Given the description of an element on the screen output the (x, y) to click on. 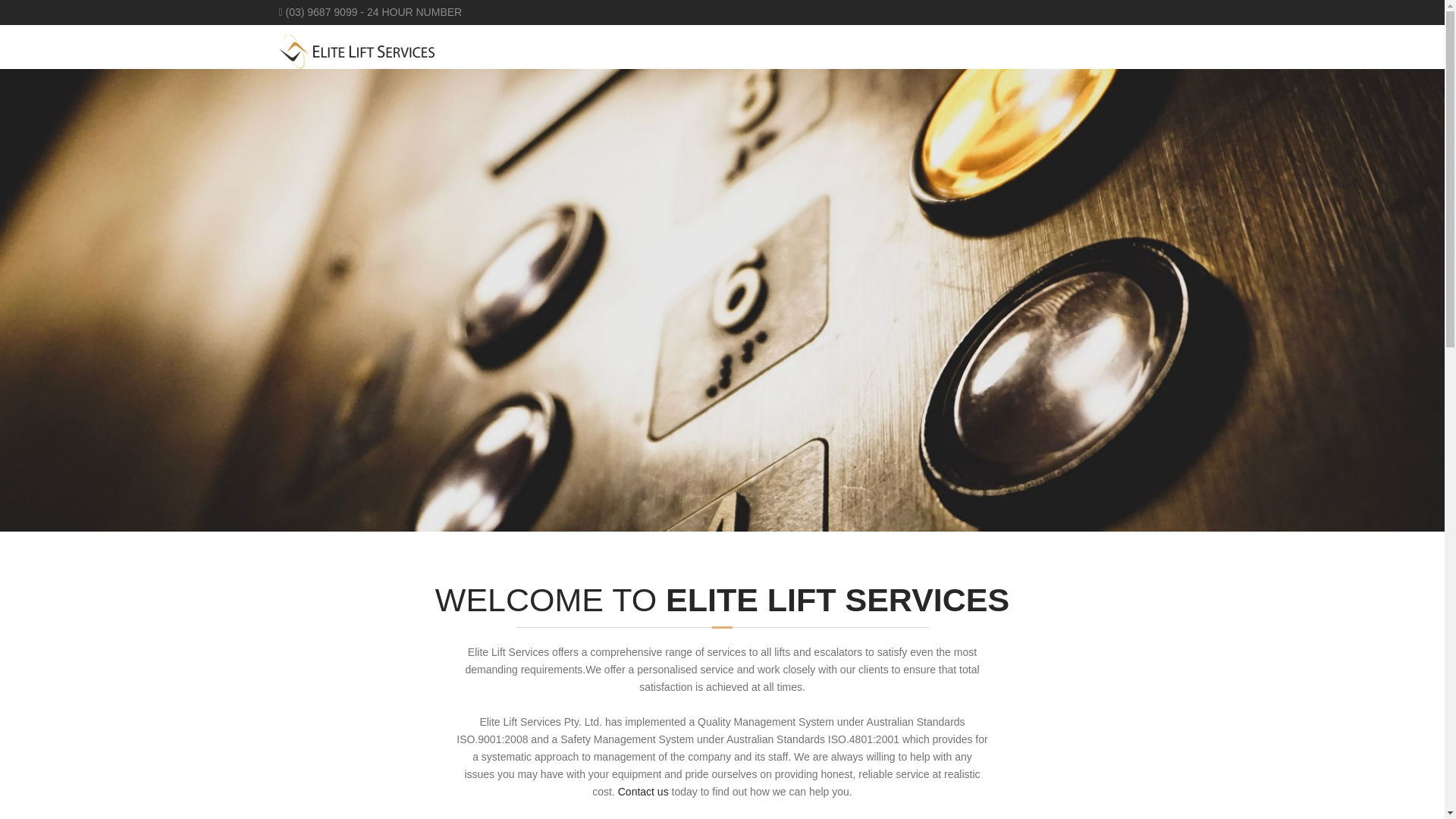
Contact us (642, 791)
